Given the description of an element on the screen output the (x, y) to click on. 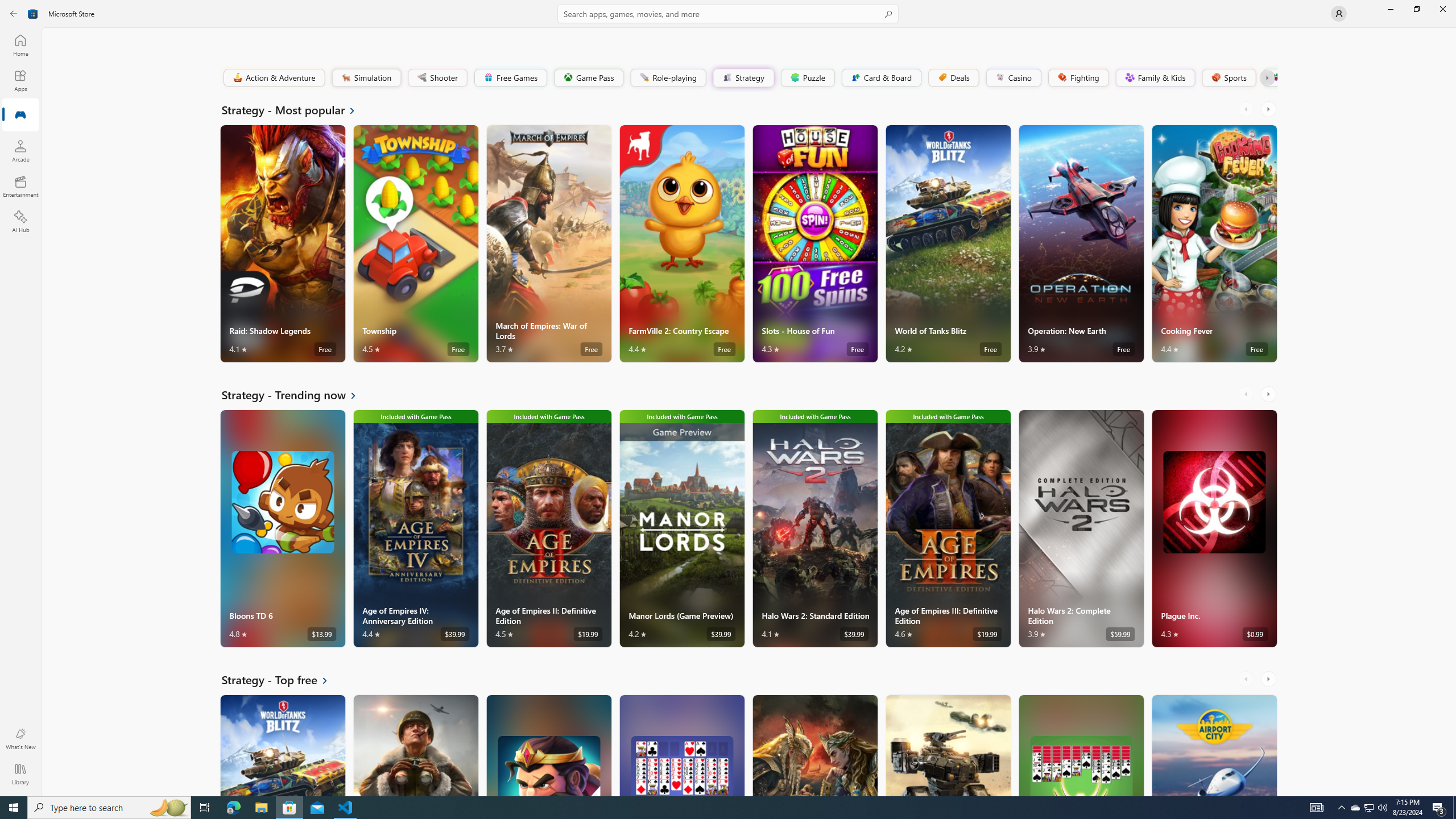
Casino (1013, 77)
AutomationID: NavigationControl (728, 398)
Platformer (1269, 77)
AI Hub (20, 221)
Search (727, 13)
Free Games (509, 77)
See all  Strategy - Most popular (295, 109)
Card & Board (880, 77)
Simulation (365, 77)
What's New (20, 738)
